Given the description of an element on the screen output the (x, y) to click on. 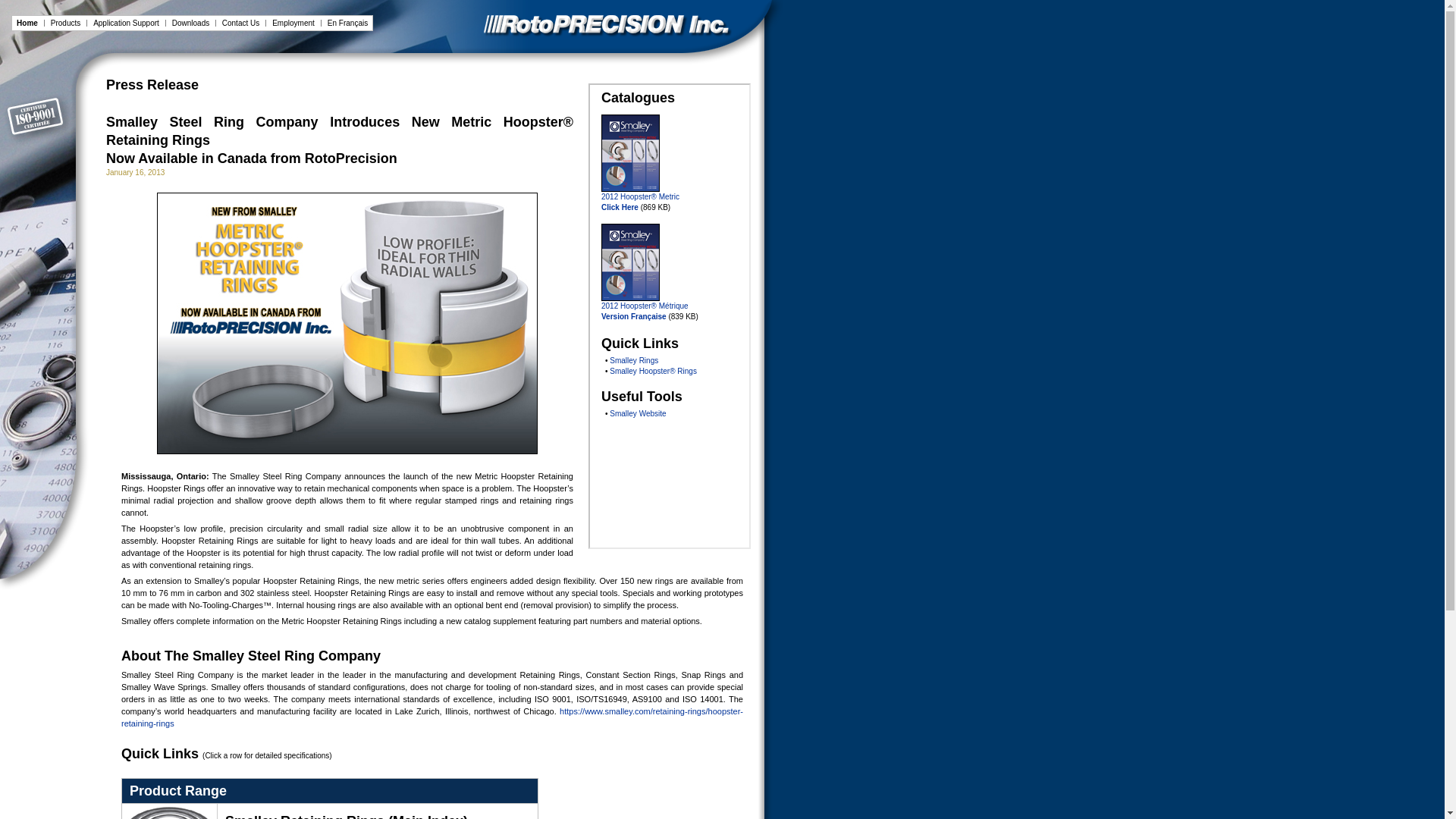
Smalley Website (637, 413)
Smalley Rings (634, 360)
